Given the description of an element on the screen output the (x, y) to click on. 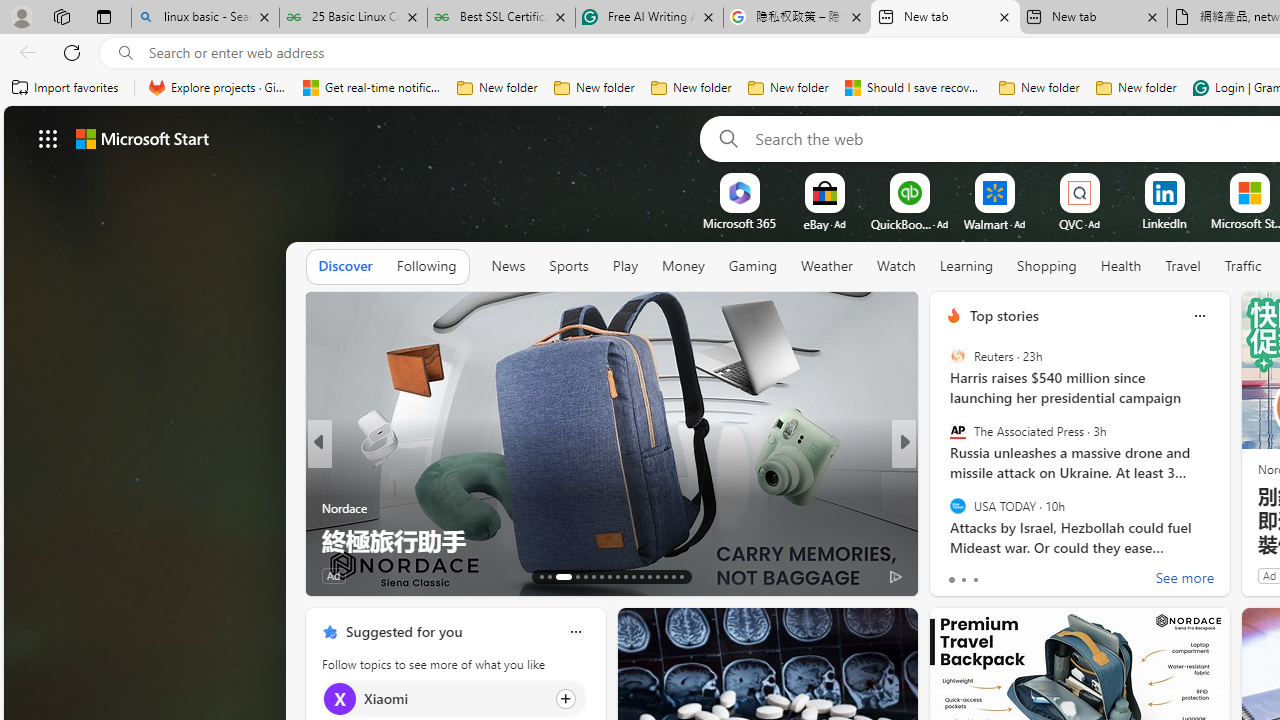
Should I save recovered Word documents? - Microsoft Support (913, 88)
AutomationID: tab-24 (641, 576)
AutomationID: tab-21 (617, 576)
AutomationID: tab-27 (664, 576)
The Associated Press (957, 431)
View comments 67 Comment (1042, 575)
Wealth of Geeks (944, 507)
